Given the description of an element on the screen output the (x, y) to click on. 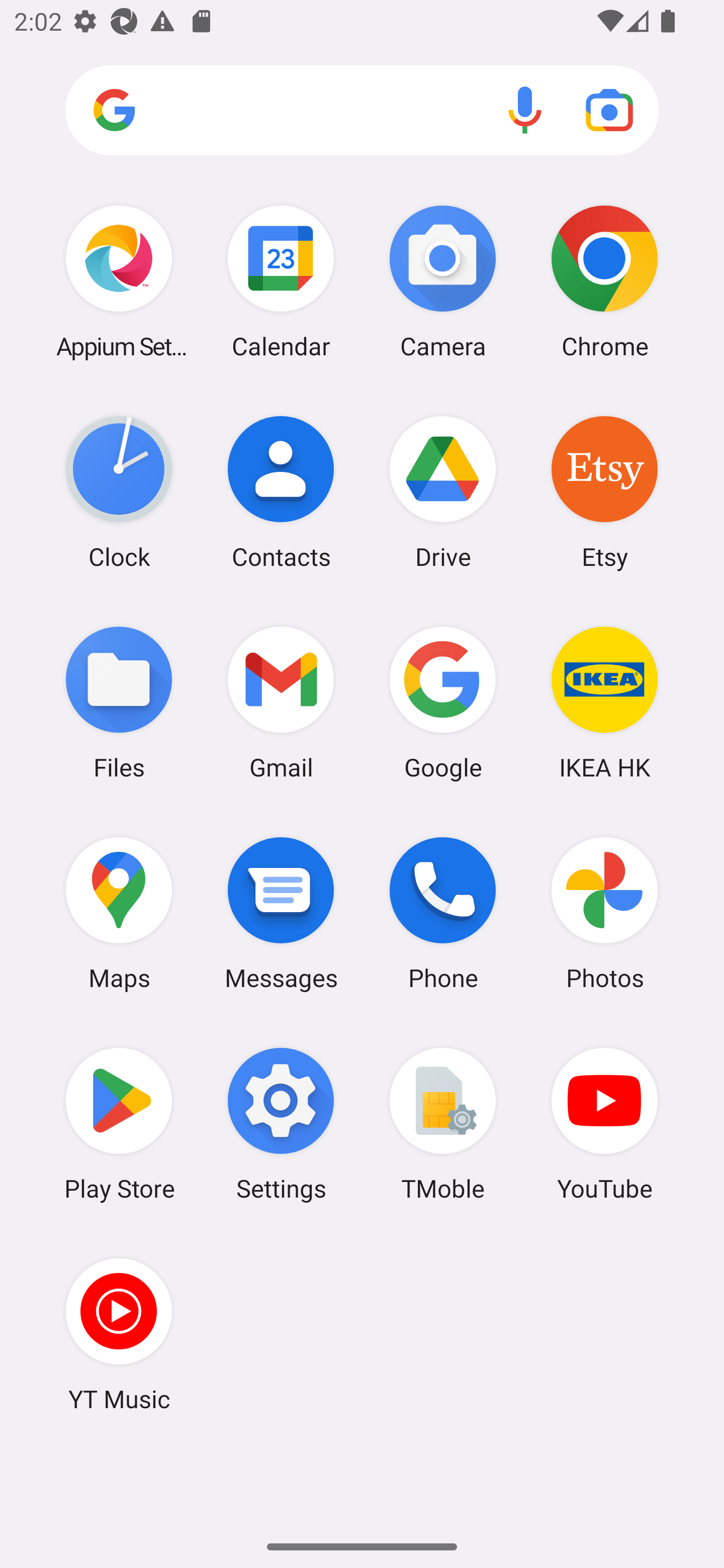
Search apps, web and more (361, 110)
Voice search (524, 109)
Google Lens (608, 109)
Appium Settings (118, 281)
Calendar (280, 281)
Camera (443, 281)
Chrome (604, 281)
Clock (118, 492)
Contacts (280, 492)
Drive (443, 492)
Etsy (604, 492)
Files (118, 702)
Gmail (280, 702)
Google (443, 702)
IKEA HK (604, 702)
Maps (118, 913)
Messages (280, 913)
Phone (443, 913)
Photos (604, 913)
Play Store (118, 1124)
Settings (280, 1124)
TMoble (443, 1124)
YouTube (604, 1124)
YT Music (118, 1334)
